Given the description of an element on the screen output the (x, y) to click on. 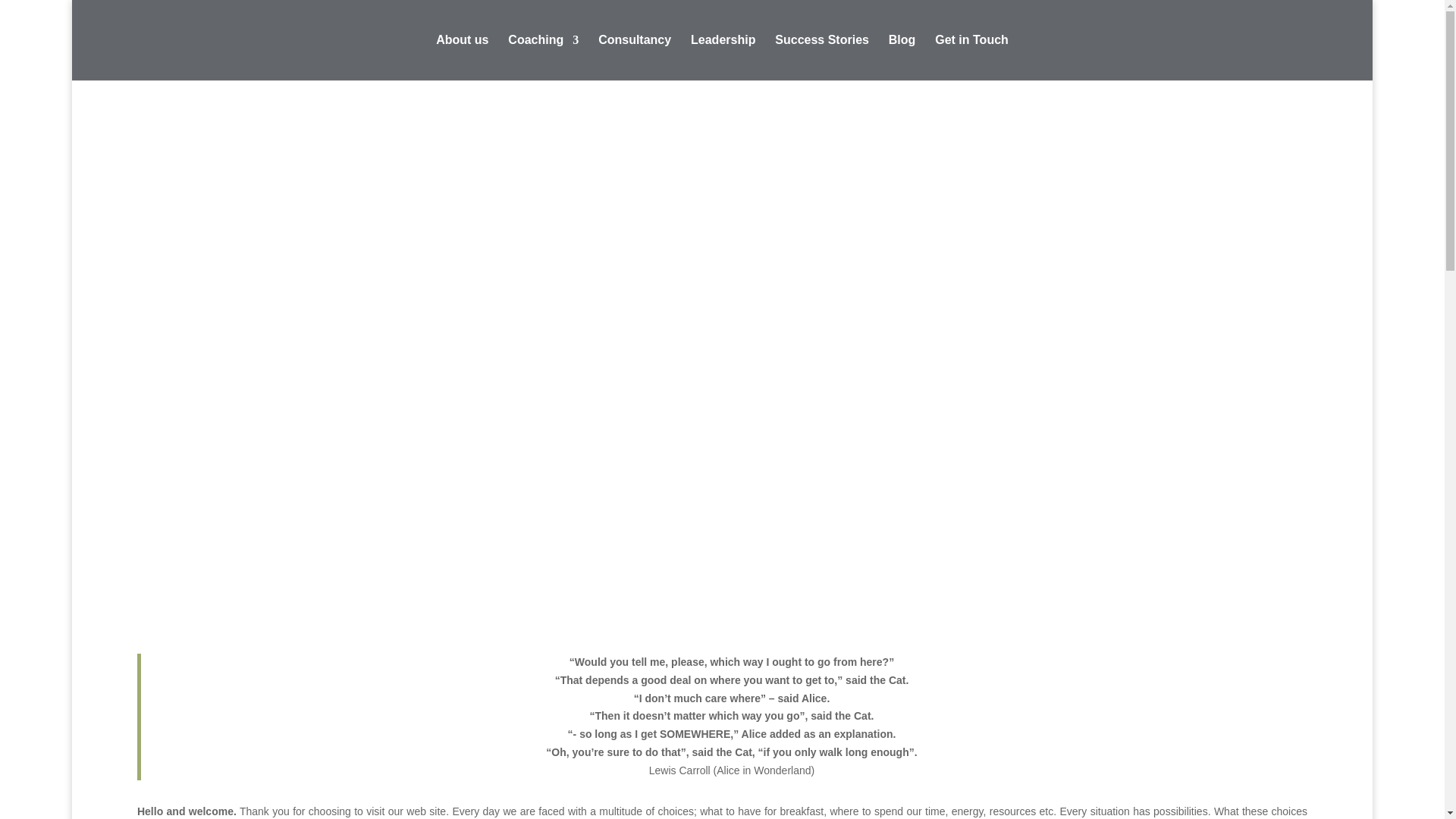
Success Stories (821, 57)
About us (461, 57)
Consultancy (634, 57)
Leadership (722, 57)
Coaching (543, 57)
Get in Touch (971, 57)
